Given the description of an element on the screen output the (x, y) to click on. 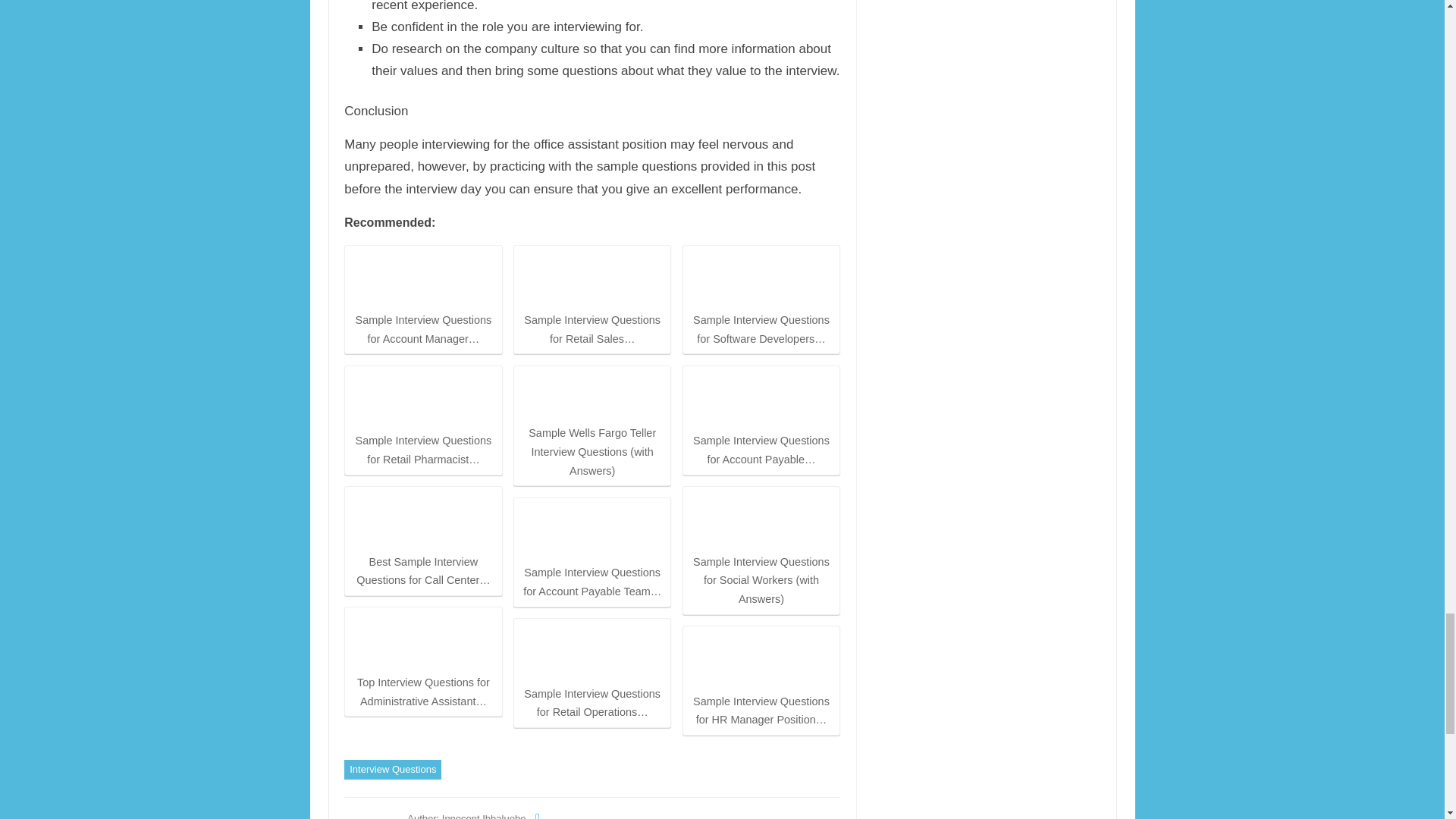
Interview Questions (392, 769)
